Given the description of an element on the screen output the (x, y) to click on. 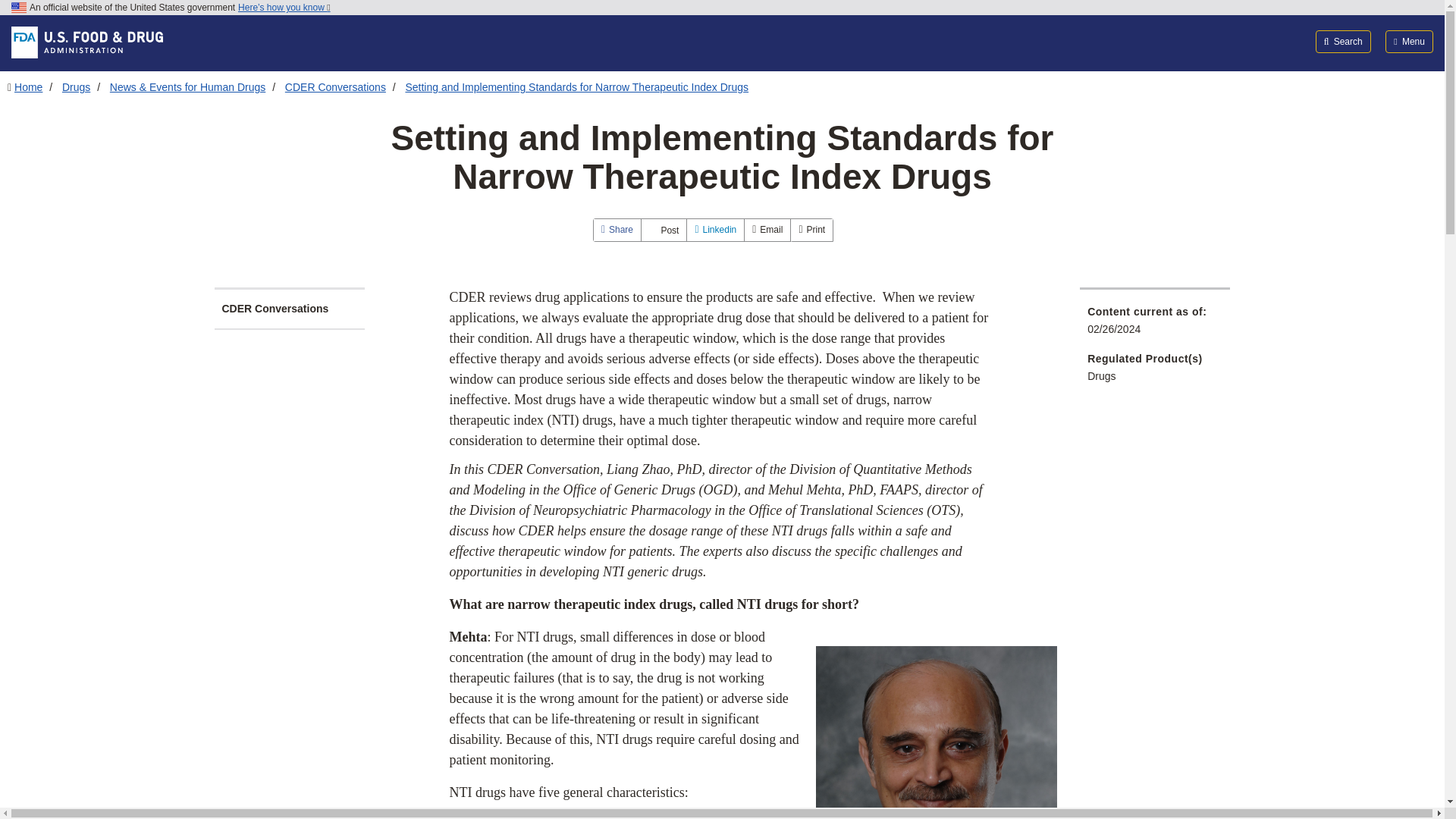
Print this page (811, 229)
  Menu (1409, 41)
  Search (1343, 41)
Mehul Mehta, PhD, FAAPS Headshot (936, 732)
